Given the description of an element on the screen output the (x, y) to click on. 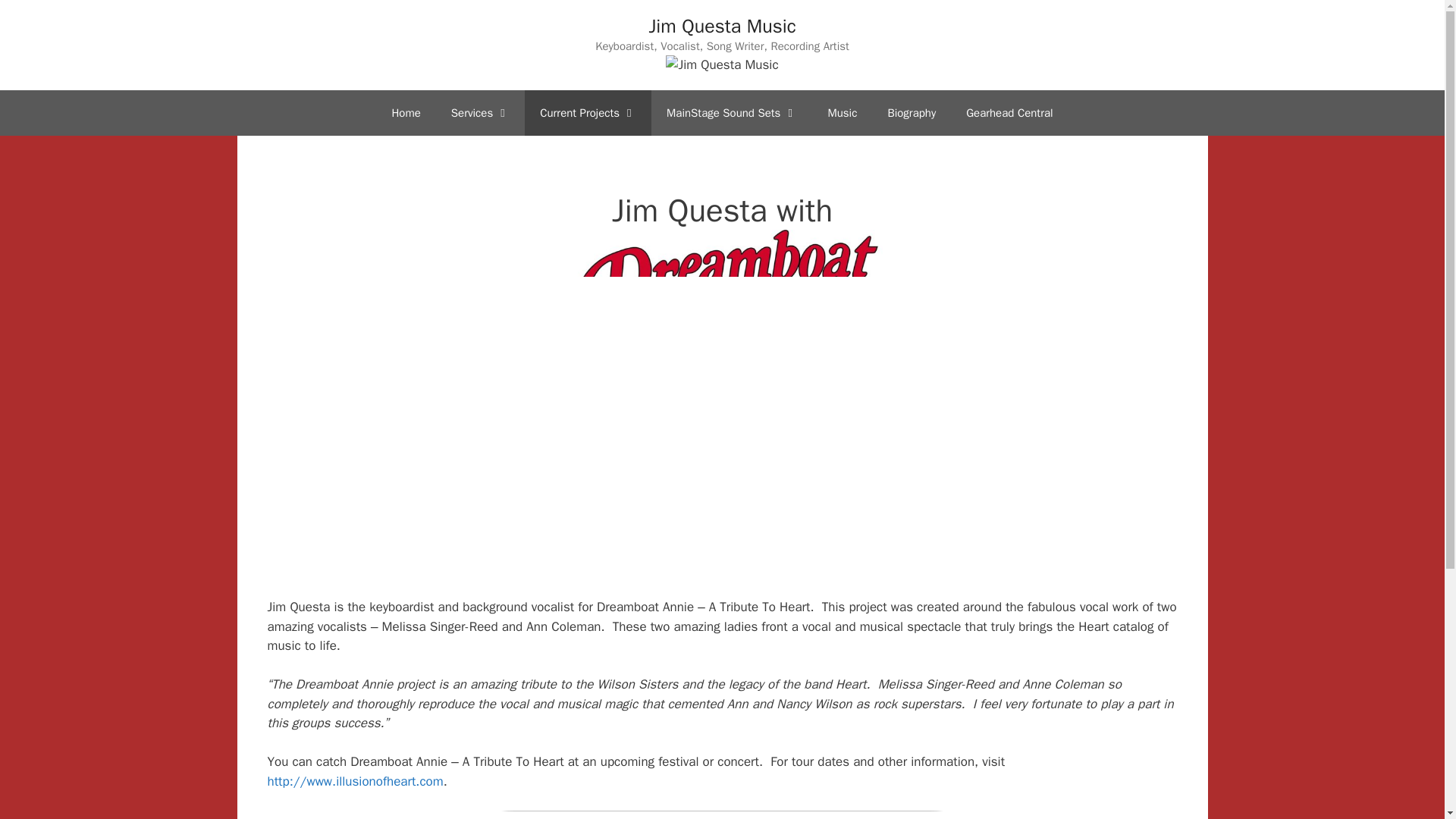
Jim Questa Music (720, 25)
MainStage Sound Sets (731, 112)
Music (842, 112)
Services (479, 112)
Current Projects (587, 112)
Home (405, 112)
Biography (911, 112)
Gearhead Central (1008, 112)
